Given the description of an element on the screen output the (x, y) to click on. 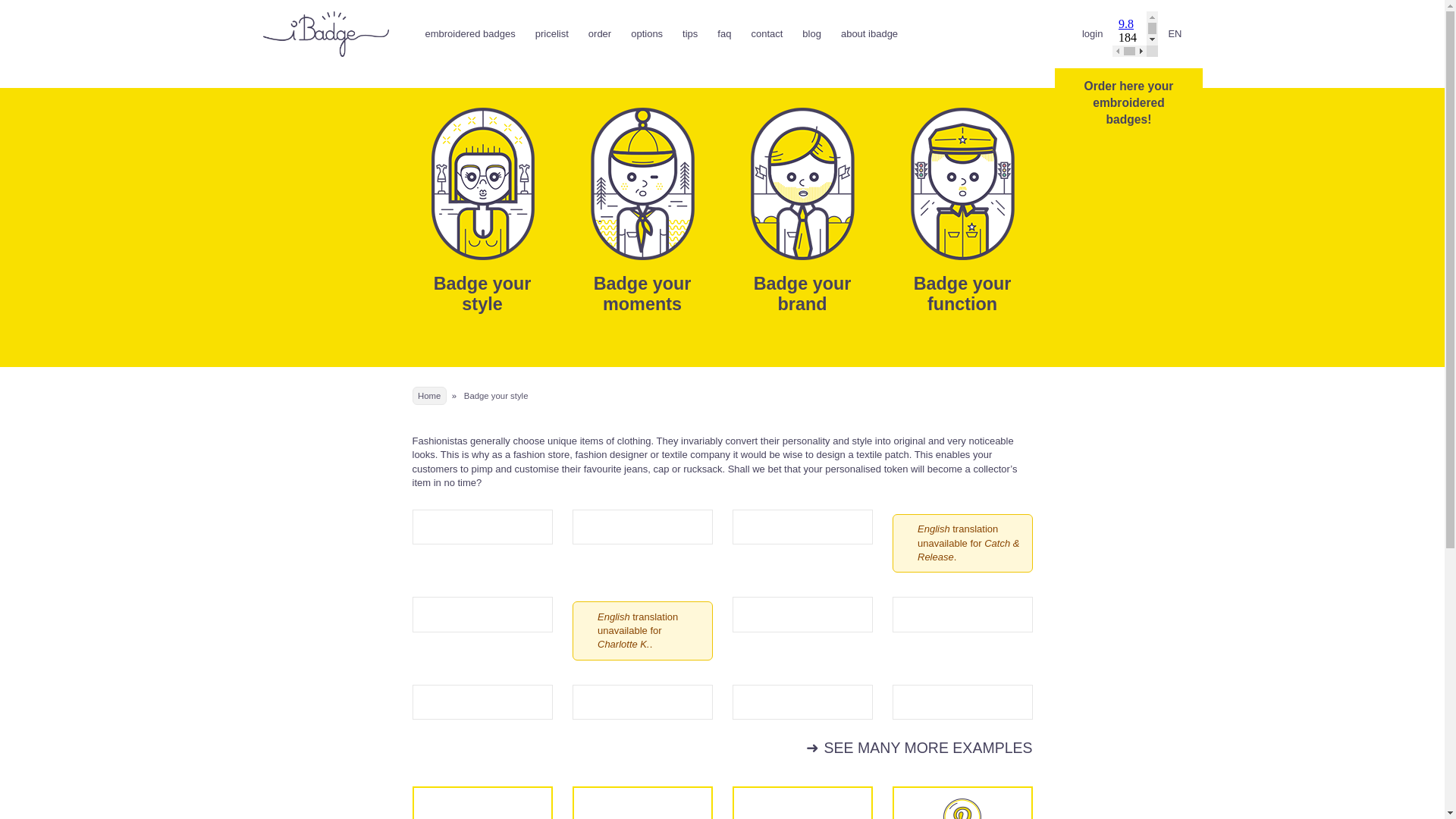
about ibadge (869, 33)
Home (429, 395)
embroidered badges (470, 33)
Badge your function (962, 293)
SEE MANY MORE EXAMPLES (919, 747)
Order here your embroidered badges! (1128, 102)
Badge your brand (802, 293)
login (1091, 33)
Badge your moments (642, 293)
